Given the description of an element on the screen output the (x, y) to click on. 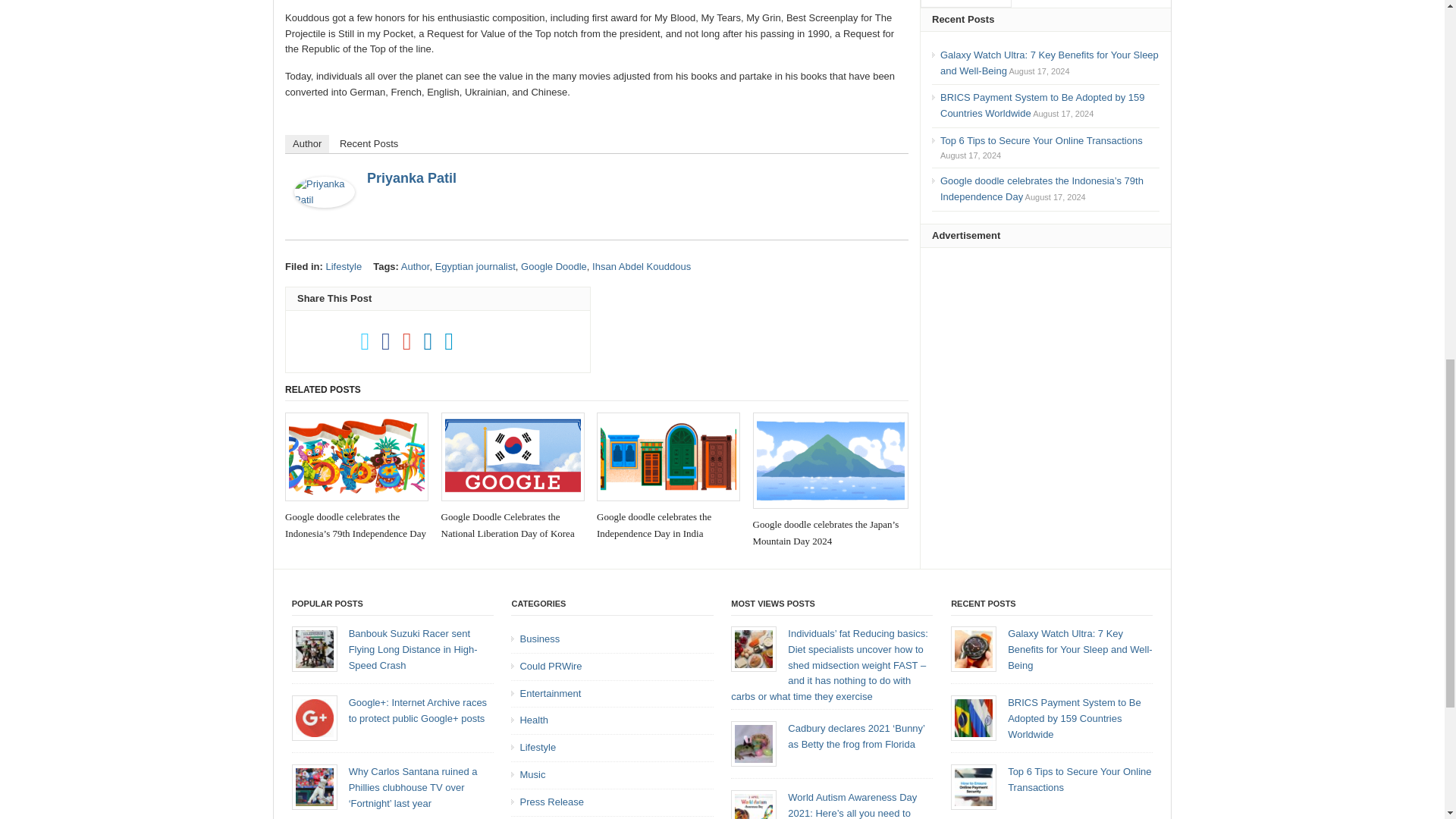
Priyanka Patil (324, 215)
Priyanka Patil (411, 177)
Author (307, 144)
Recent Posts (368, 144)
